Given the description of an element on the screen output the (x, y) to click on. 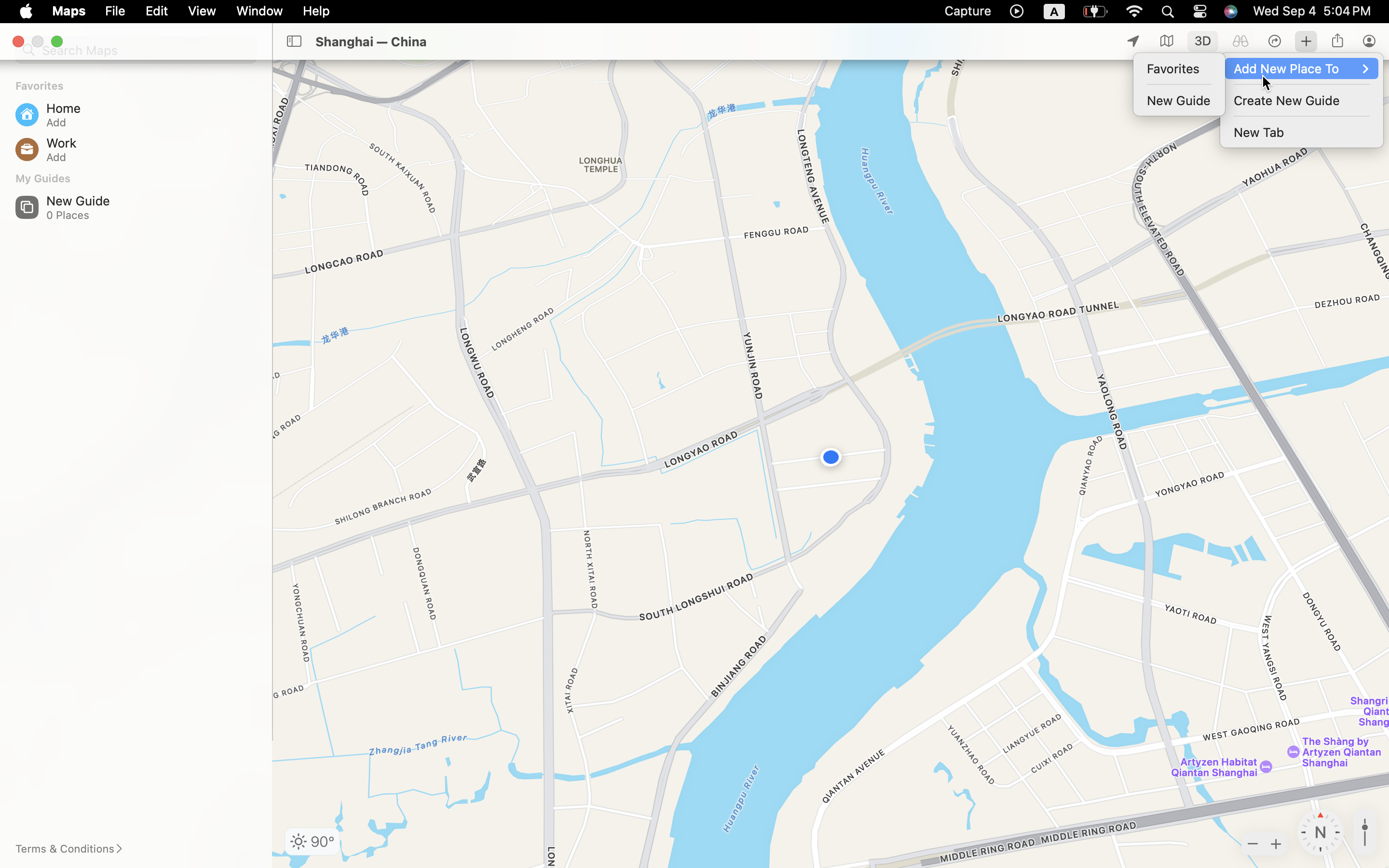
Heading: 0 degrees North Element type: AXButton (1320, 832)
0.6666667461395264 Element type: AXSlider (1364, 832)
1 Element type: AXCheckBox (1202, 41)
0 Element type: AXCheckBox (1240, 41)
